Given the description of an element on the screen output the (x, y) to click on. 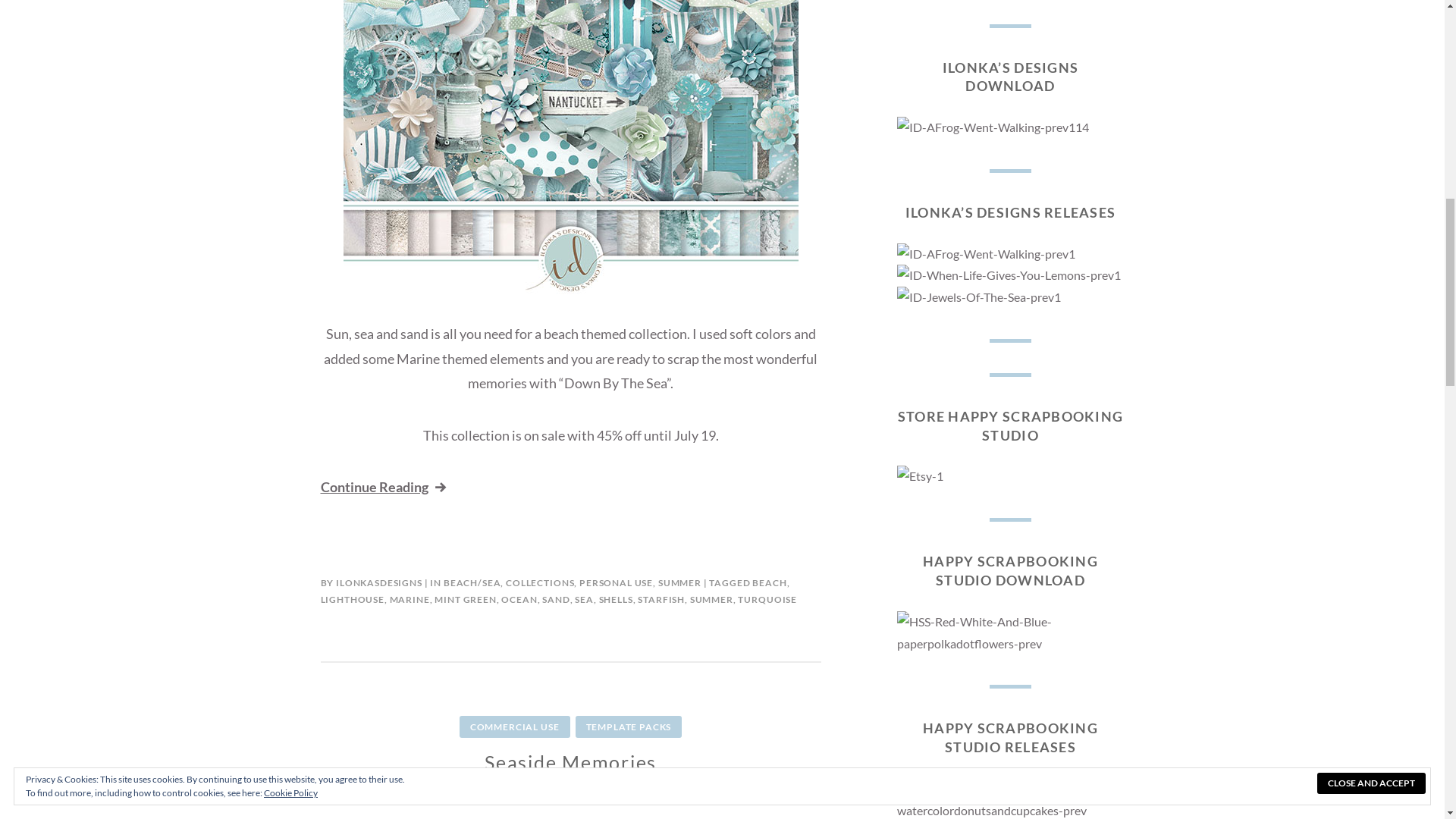
PERSONAL USE (615, 582)
ILONKASDESIGNS (379, 582)
OCEAN (518, 599)
MINT GREEN (464, 599)
LIGHTHOUSE (352, 599)
COLLECTIONS (539, 582)
SUMMER (679, 582)
MARINE (409, 599)
BEACH (769, 582)
